Given the description of an element on the screen output the (x, y) to click on. 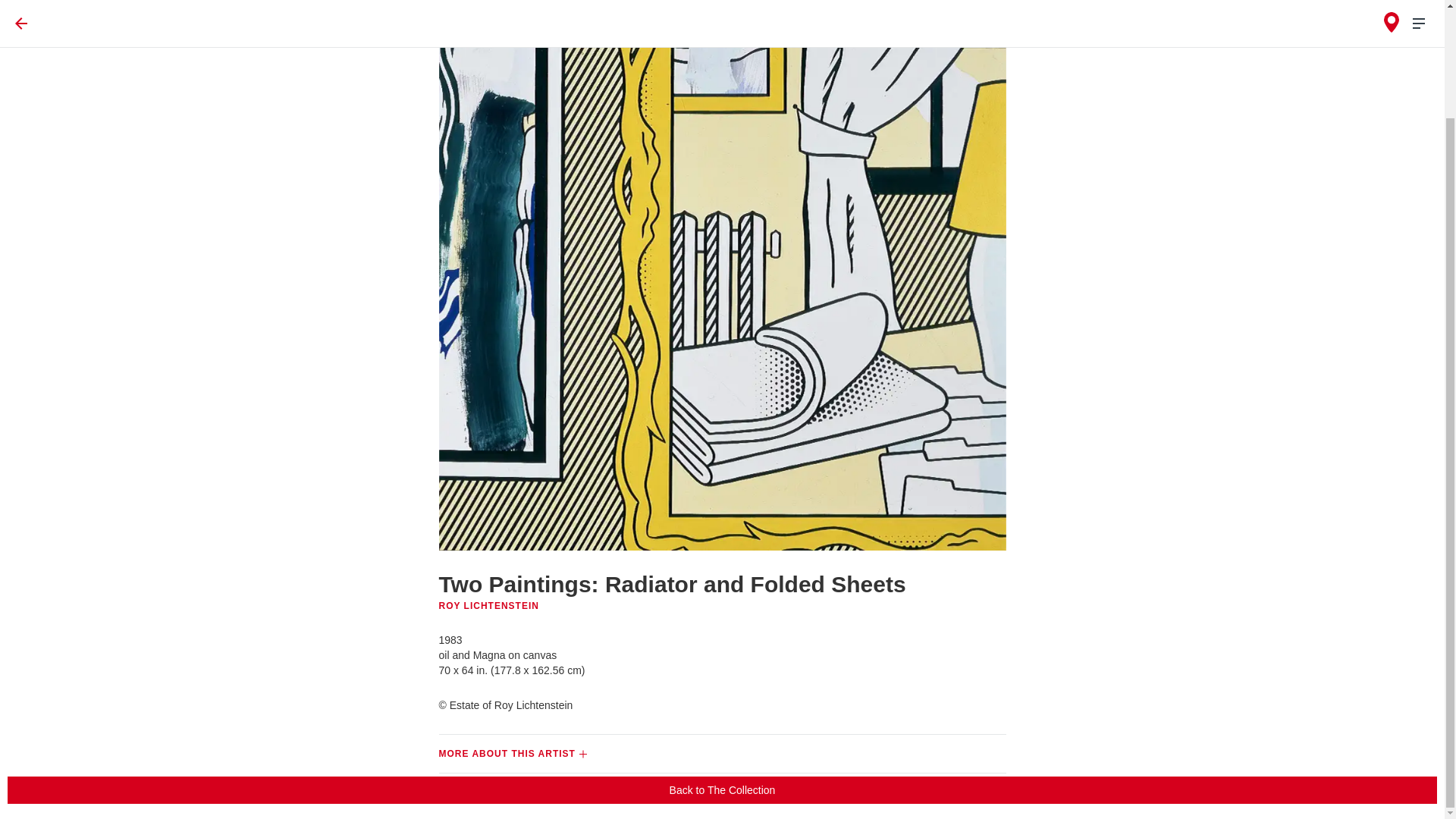
MORE ABOUT THIS ARTIST (722, 753)
Back to The Collection (722, 662)
